Given the description of an element on the screen output the (x, y) to click on. 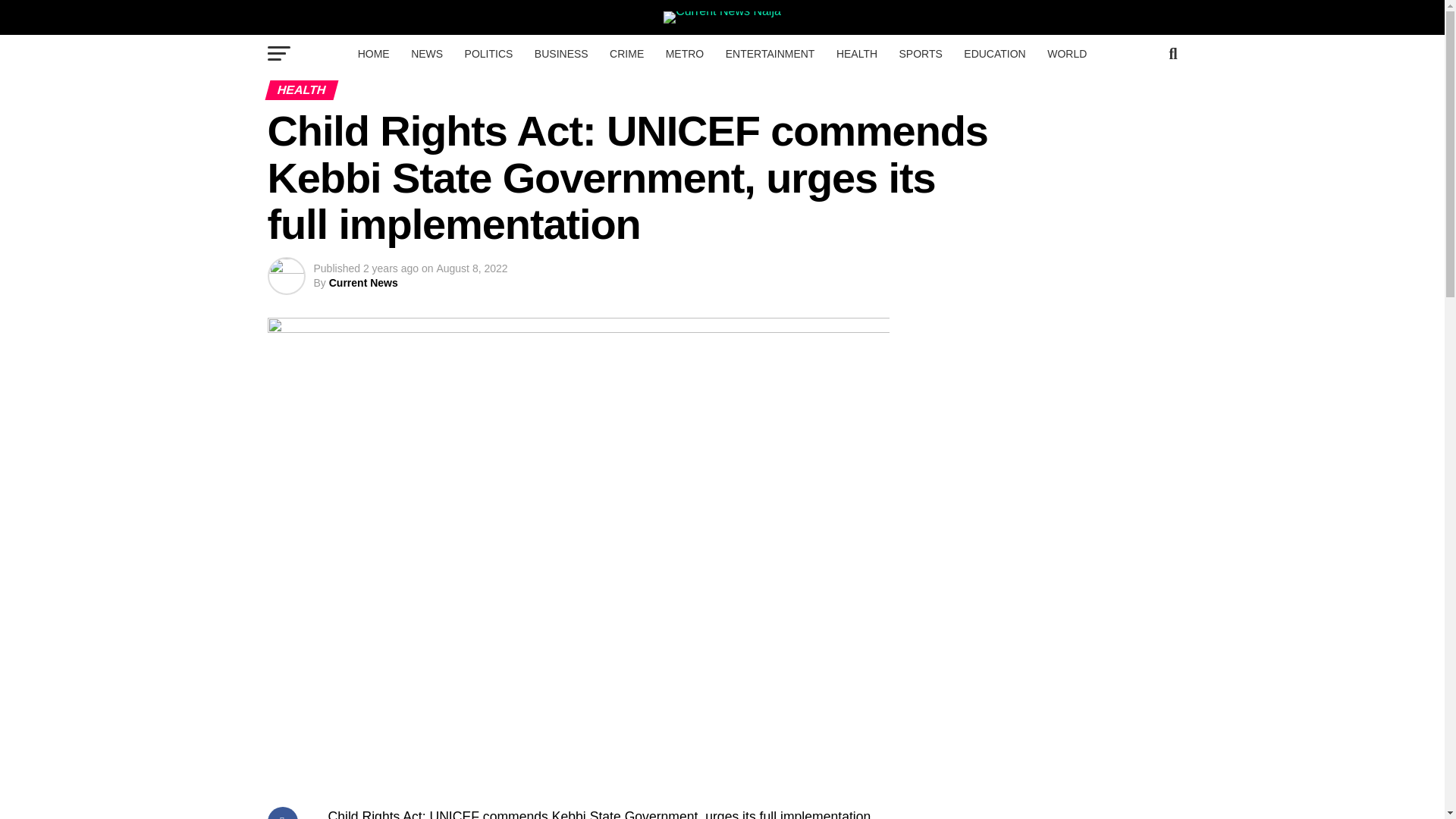
HOME (373, 53)
POLITICS (488, 53)
Posts by Current News (363, 282)
CRIME (625, 53)
NEWS (426, 53)
BUSINESS (560, 53)
METRO (684, 53)
